Given the description of an element on the screen output the (x, y) to click on. 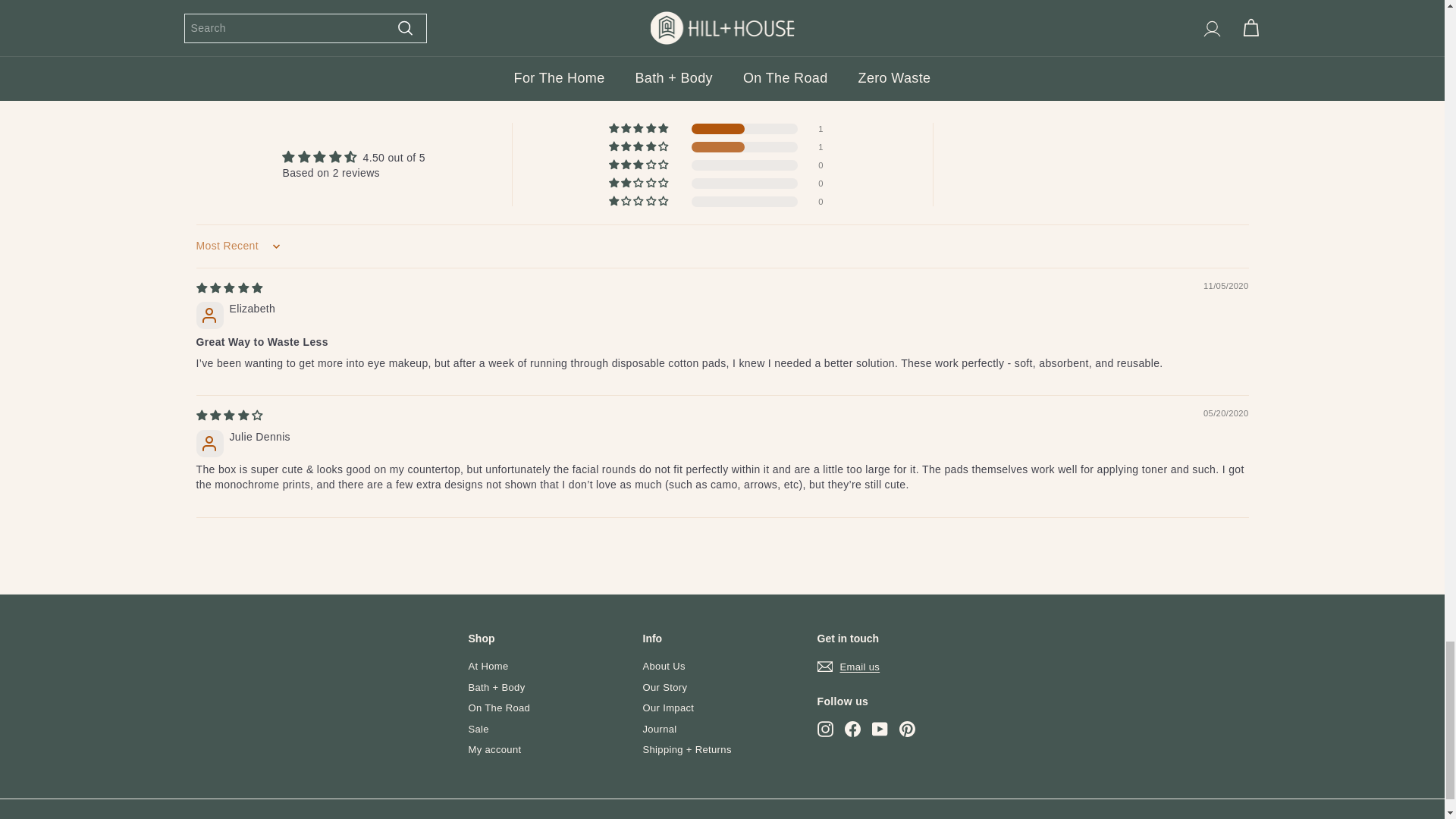
instagram (824, 729)
